Given the description of an element on the screen output the (x, y) to click on. 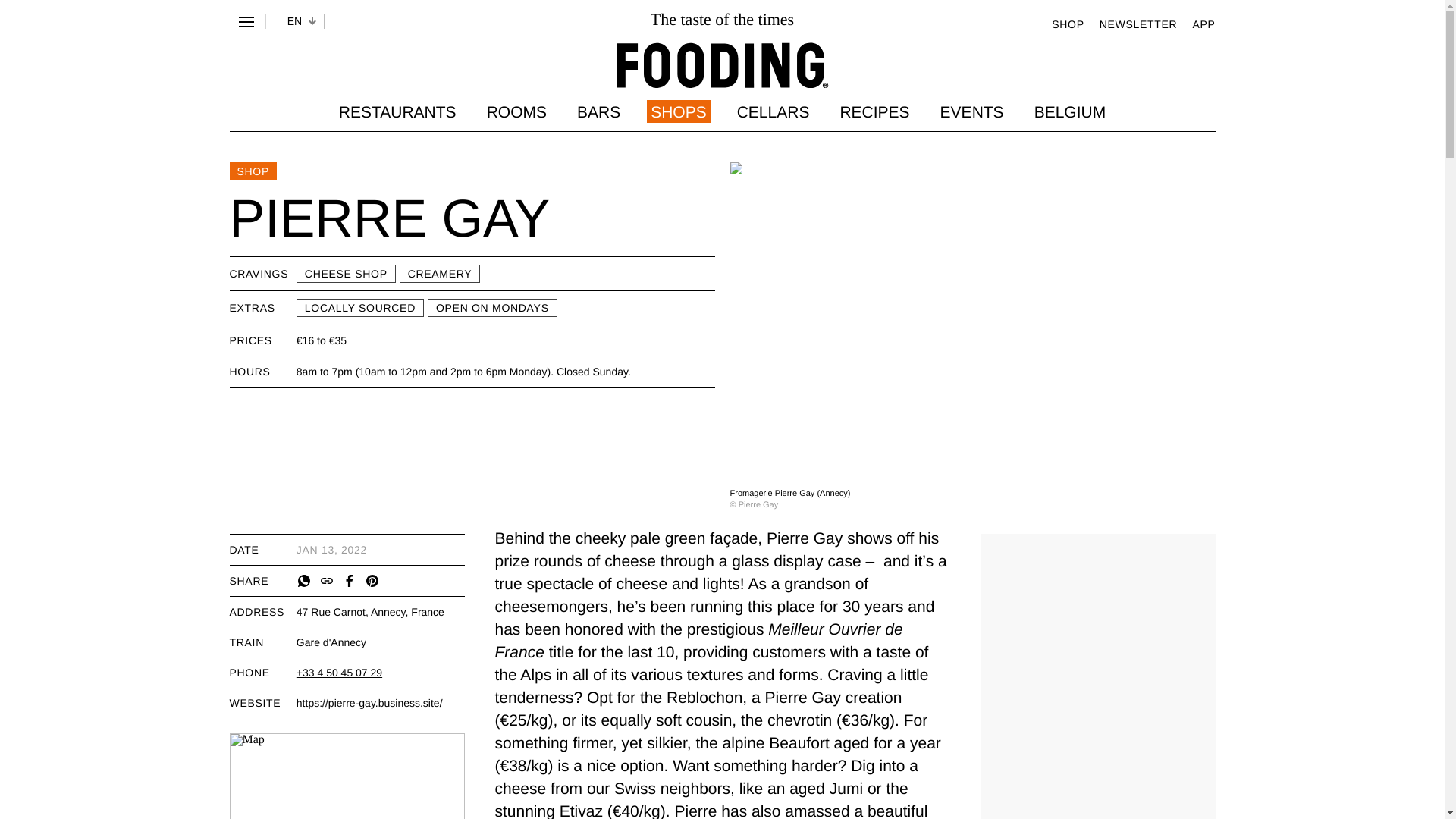
SHOP (1067, 22)
NEWSLETTER (1138, 22)
RESTAURANTS (398, 111)
CELLARS (772, 111)
RECIPES (874, 111)
EVENTS (972, 111)
BARS (598, 111)
SHOPS (678, 111)
ROOMS (516, 111)
BELGIUM (1069, 111)
EN (293, 20)
APP (1203, 22)
